Given the description of an element on the screen output the (x, y) to click on. 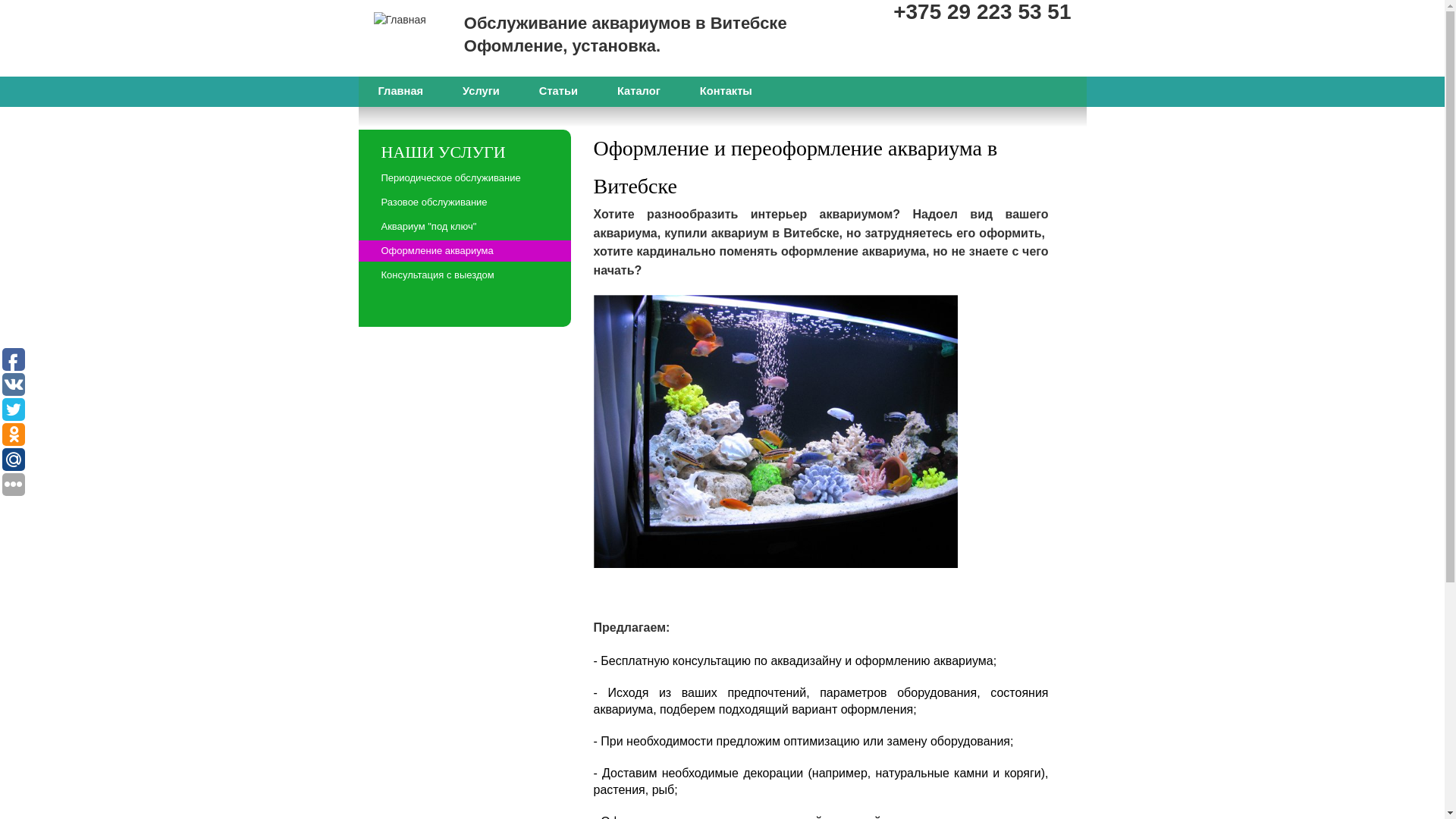
+375 29 223 53 51 Element type: text (981, 11)
